Given the description of an element on the screen output the (x, y) to click on. 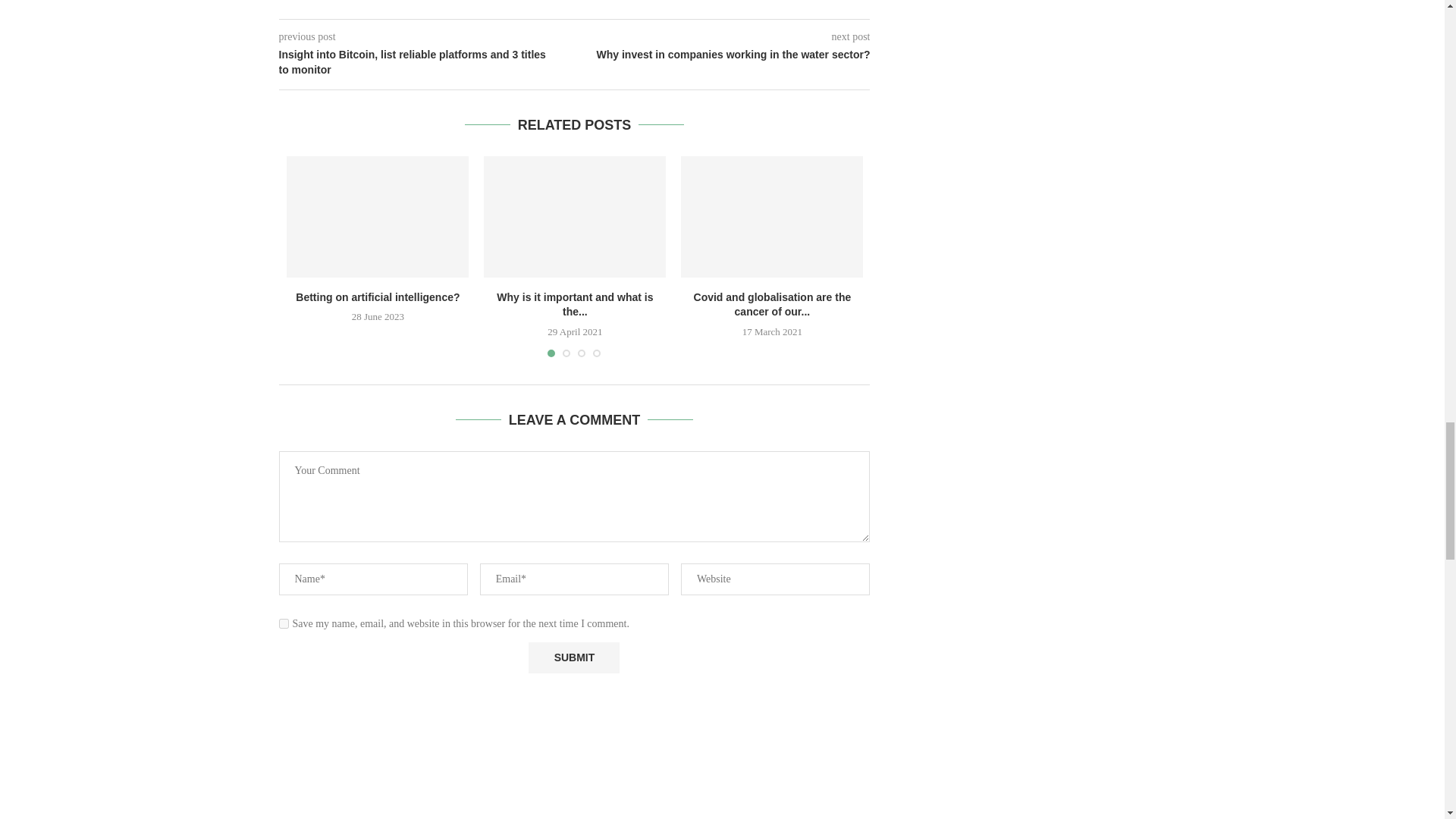
Covid and globalisation are the cancer of our society (772, 216)
Why is it important and what is the Move indicator? (574, 216)
Submit (574, 657)
Why invest in companies working in the water sector? (722, 55)
Betting on artificial intelligence? (377, 216)
yes (283, 623)
